Given the description of an element on the screen output the (x, y) to click on. 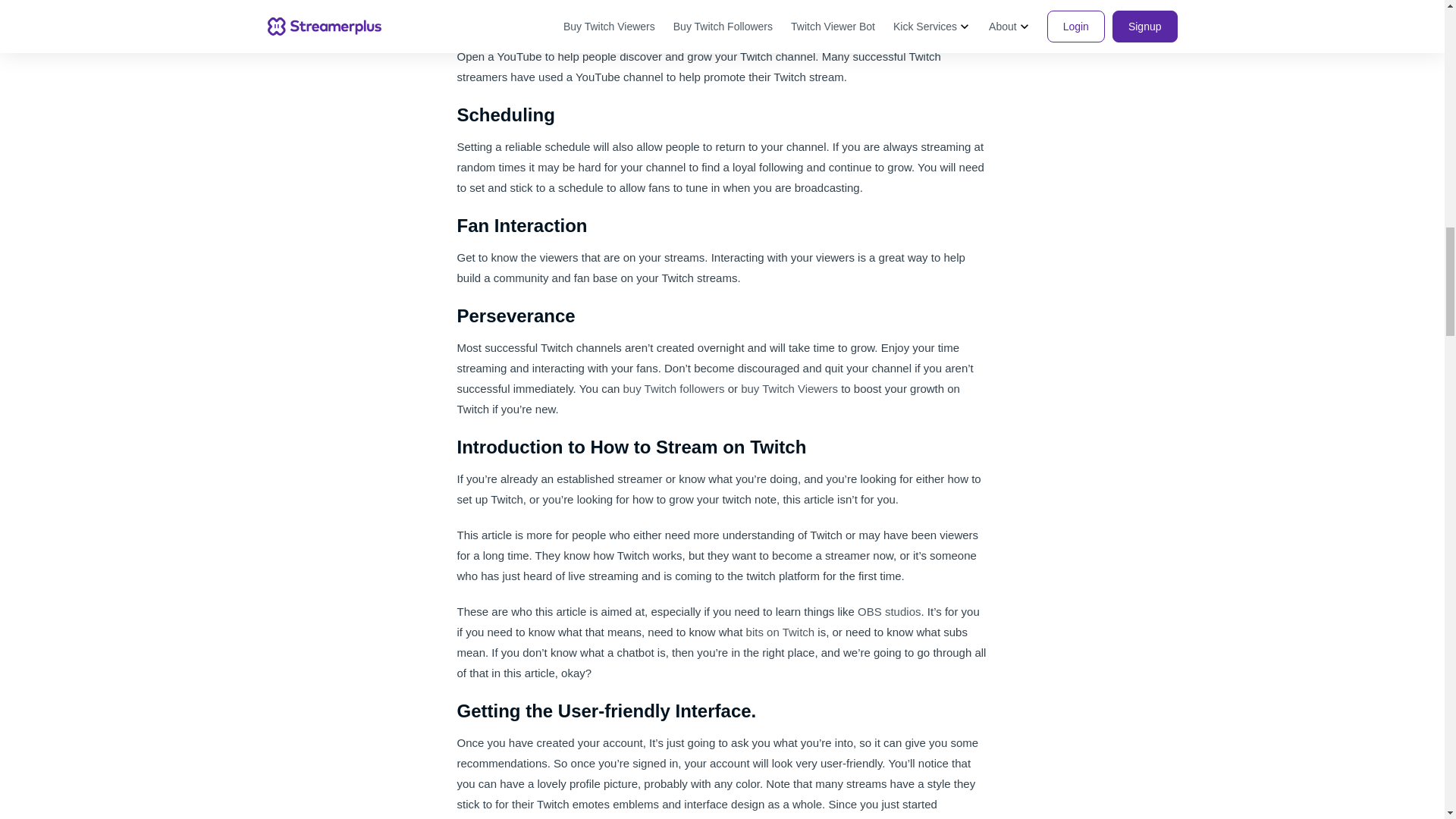
OBS studios (888, 611)
buy Twitch Viewers (789, 388)
bits on Twitch (780, 631)
buy Twitch followers (674, 388)
